Given the description of an element on the screen output the (x, y) to click on. 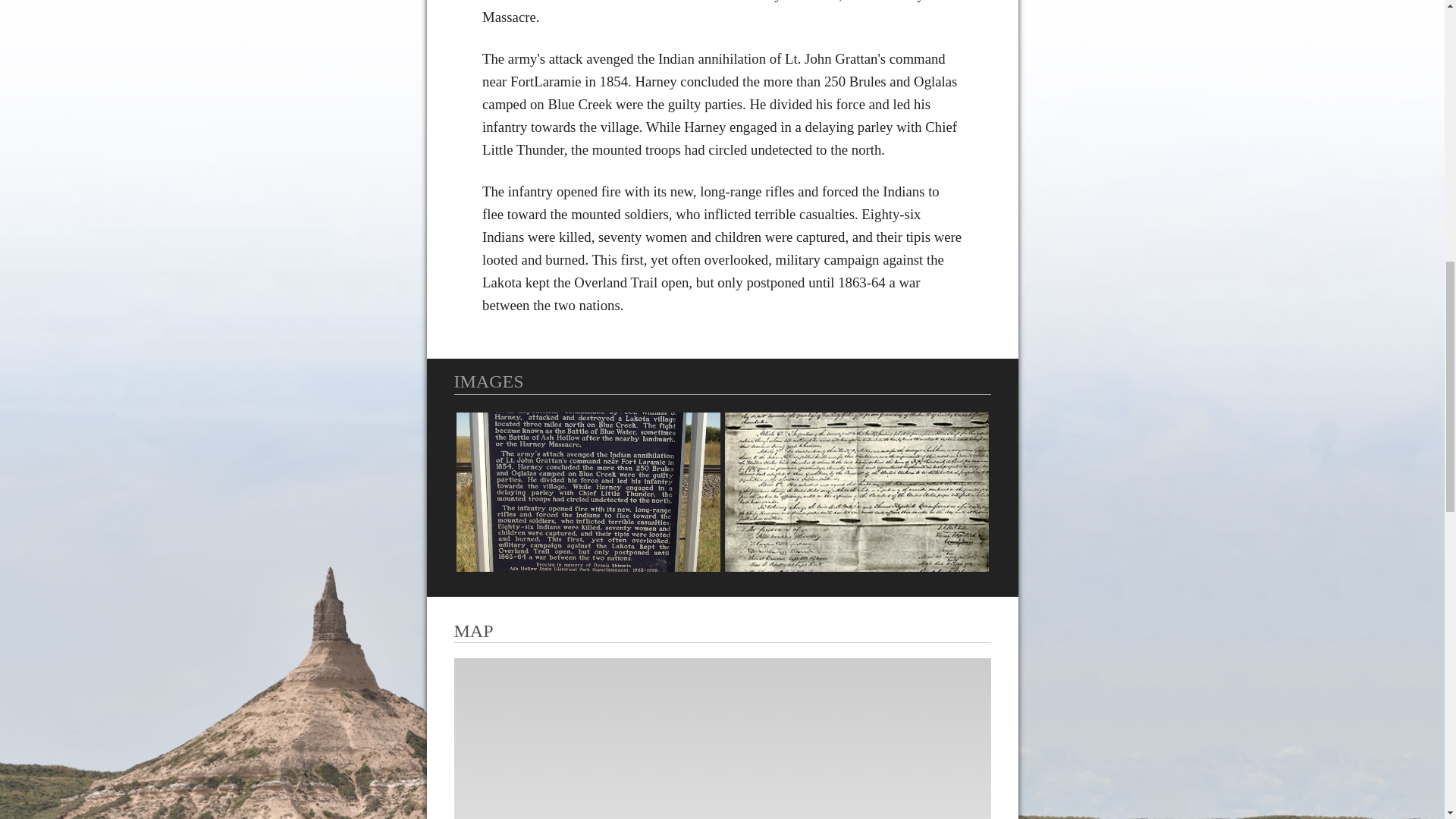
Fort Laramie Treaty, 1851 (856, 491)
Untitled (588, 491)
